Given the description of an element on the screen output the (x, y) to click on. 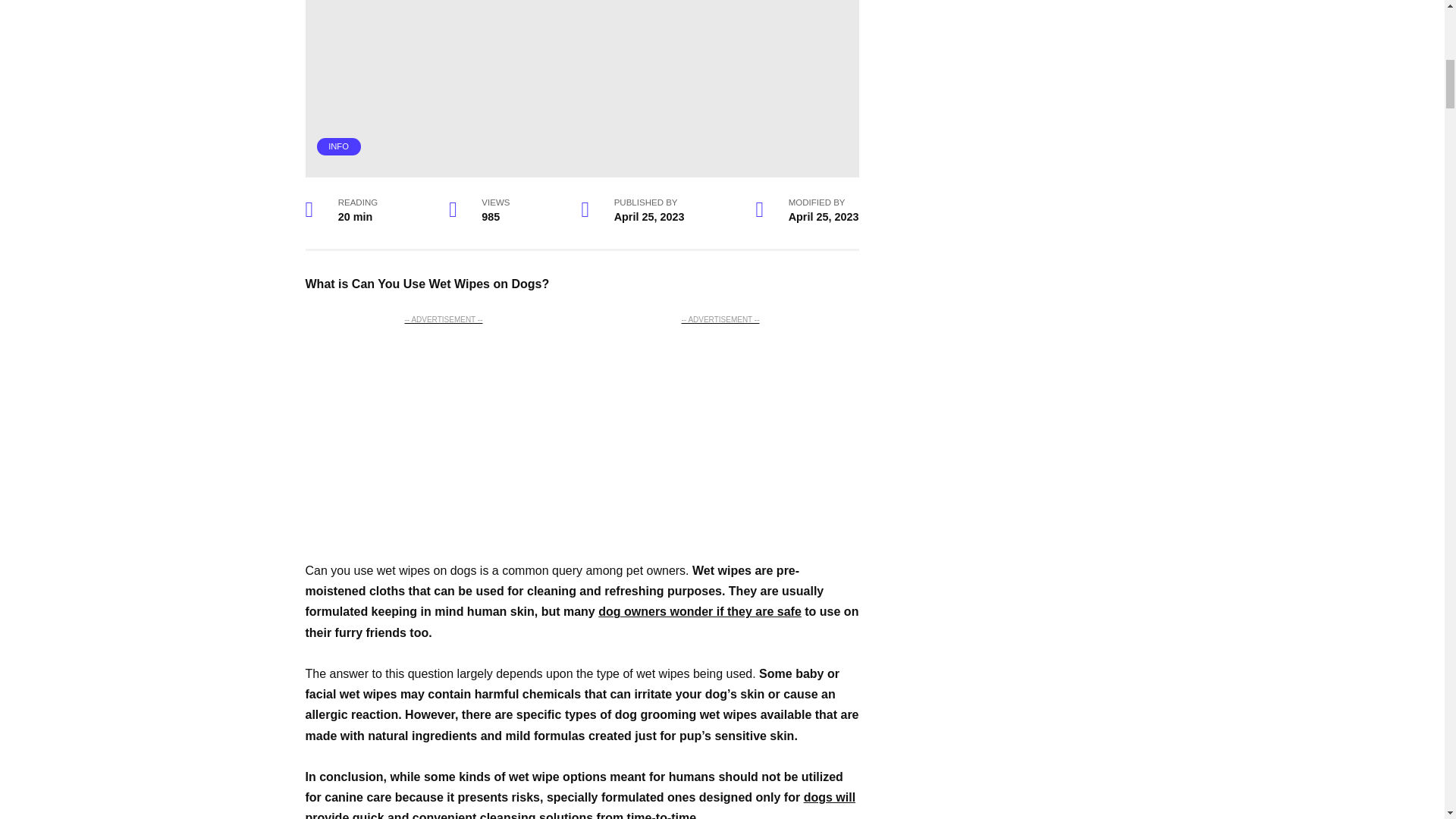
INFO (339, 145)
dog owners wonder if they are safe (700, 611)
dogs will provide quick and convenient cleansing solutions (580, 805)
